Given the description of an element on the screen output the (x, y) to click on. 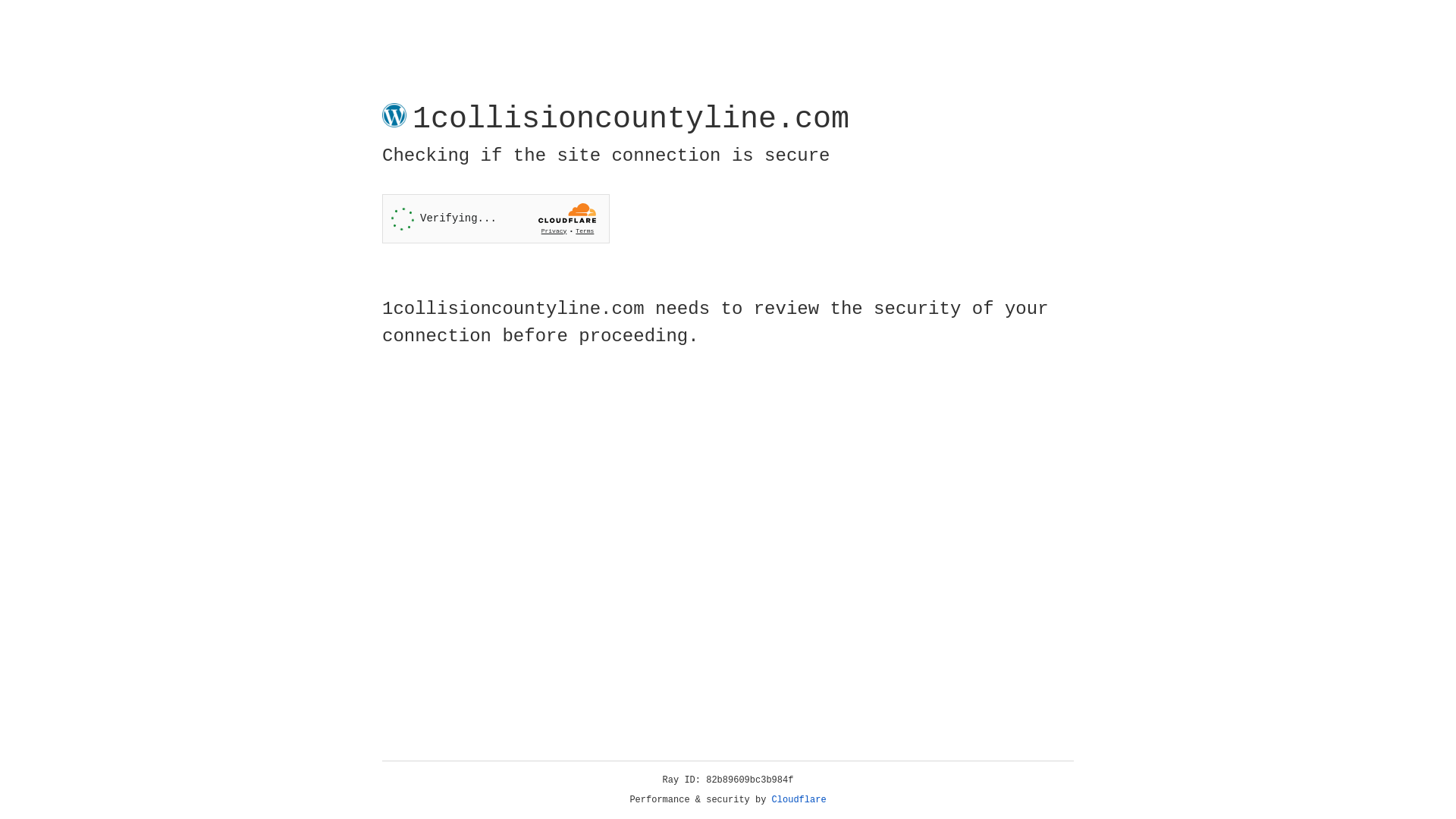
Cloudflare Element type: text (798, 799)
Widget containing a Cloudflare security challenge Element type: hover (495, 218)
